Given the description of an element on the screen output the (x, y) to click on. 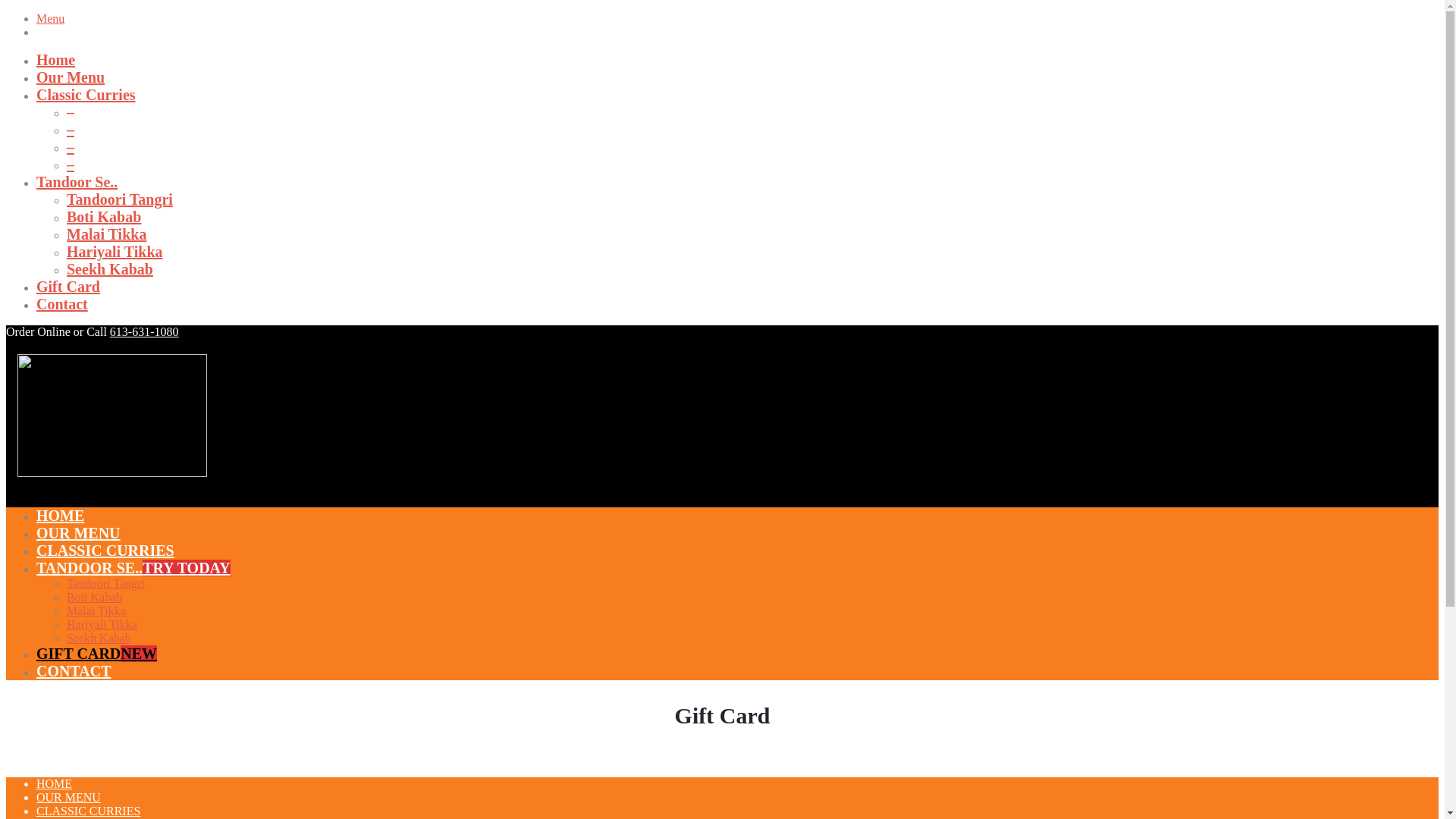
Seekh Kabab Element type: text (98, 637)
Classic Curries Element type: text (85, 94)
CLASSIC CURRIES Element type: text (105, 550)
Gift Card Element type: text (68, 286)
CONTACT Element type: text (73, 670)
Malai Tikka Element type: text (106, 233)
HOME Element type: text (60, 515)
Malai Tikka Element type: text (95, 610)
TANDOOR SE..TRY TODAY Element type: text (133, 567)
Hariyali Tikka Element type: text (114, 251)
Our Menu Element type: text (70, 77)
Zaffran Element type: hover (112, 472)
OUR MENU Element type: text (68, 796)
Contact Element type: text (61, 303)
Seekh Kabab Element type: text (109, 268)
GIFT CARDNEW Element type: text (96, 653)
Menu Element type: text (50, 18)
Tandoori Tangri Element type: text (119, 199)
Tandoori Tangri Element type: text (105, 583)
OUR MENU Element type: text (78, 532)
Tandoor Se.. Element type: text (76, 181)
Boti Kabab Element type: text (94, 596)
613-631-1080 Element type: text (143, 331)
Boti Kabab Element type: text (103, 216)
HOME Element type: text (54, 783)
Hariyali Tikka Element type: text (101, 624)
Home Element type: text (55, 59)
CLASSIC CURRIES Element type: text (88, 810)
